Given the description of an element on the screen output the (x, y) to click on. 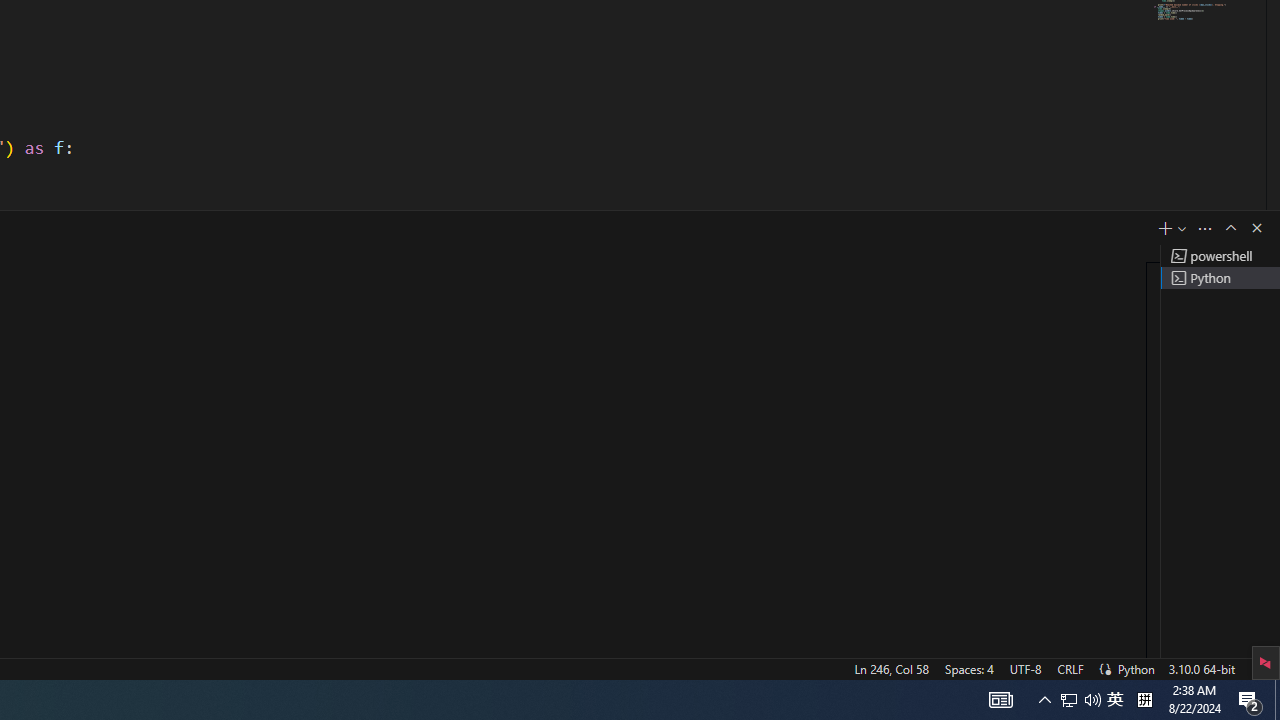
Launch Profile... (1181, 227)
Spaces: 4 (968, 668)
